Given the description of an element on the screen output the (x, y) to click on. 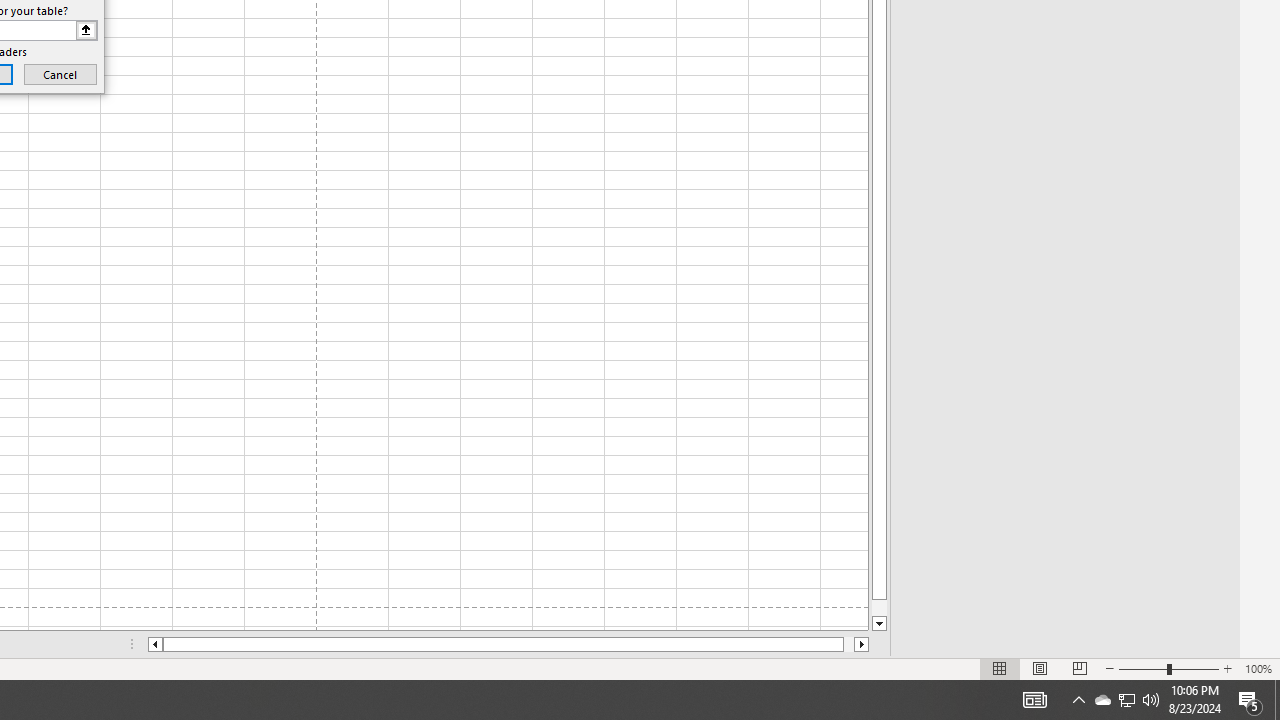
Class: NetUIScrollBar (507, 644)
Page down (879, 607)
Page right (848, 644)
Line down (879, 624)
Zoom In (1227, 668)
Page Break Preview (1079, 668)
Zoom (1168, 668)
Column right (861, 644)
Column left (153, 644)
Zoom Out (1142, 668)
